Given the description of an element on the screen output the (x, y) to click on. 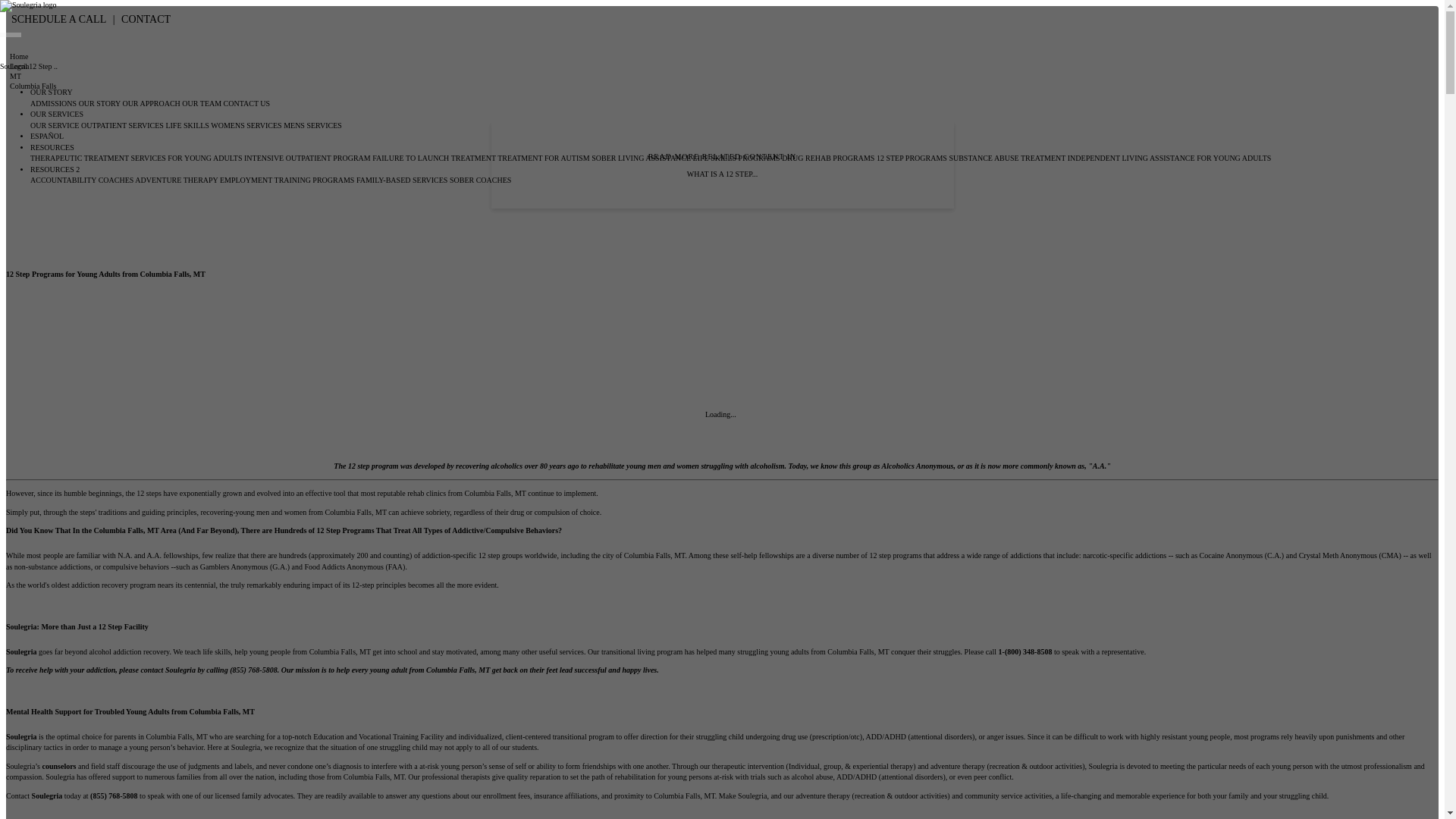
navigation link (123, 125)
navigation dropdown (51, 91)
12 STEP PROGRAMS (912, 157)
navigation dropdown (52, 147)
WHAT IS A 12 STEP... (722, 173)
Home (18, 56)
navigation link (152, 103)
navigation link (54, 103)
navigation link (188, 125)
navigation link (308, 157)
SUBSTANCE ABUSE TREATMENT (1008, 157)
navigation link (434, 157)
ADVENTURE THERAPY (177, 180)
RESOURCES 2 (55, 169)
FAMILY-BASED SERVICES (402, 180)
